Given the description of an element on the screen output the (x, y) to click on. 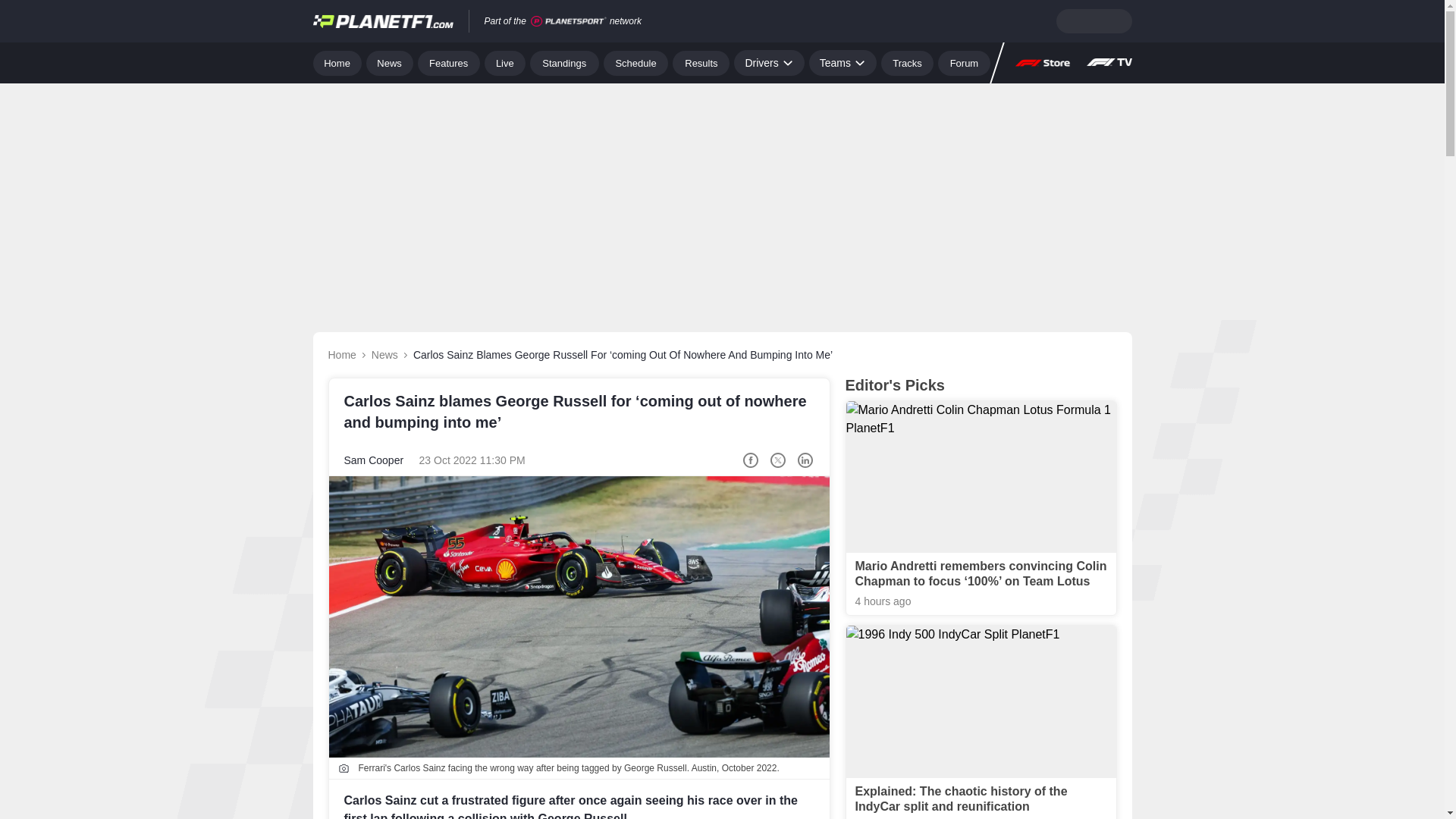
Features (448, 62)
News (389, 62)
Standings (563, 62)
Live (504, 62)
Results (700, 62)
Home (337, 62)
Drivers (768, 62)
Schedule (636, 62)
Teams (842, 62)
